Given the description of an element on the screen output the (x, y) to click on. 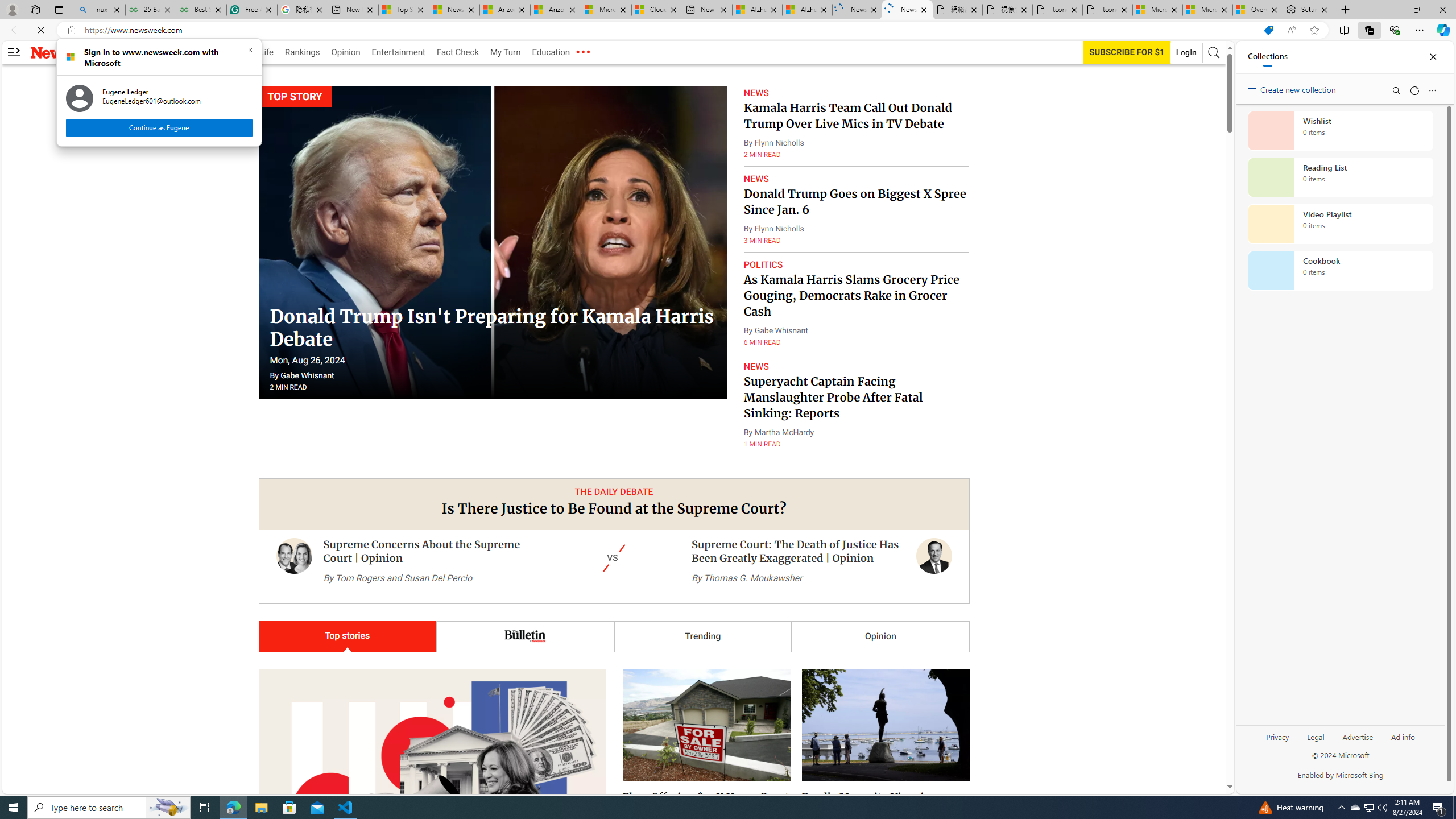
Reading List collection, 0 items (1339, 177)
AutomationID: side-arrow (13, 51)
linux basic - Search (99, 9)
Newsweek - News, Analysis, Politics, Business, Technology (907, 9)
Top stories (346, 636)
Cookbook collection, 0 items (1339, 270)
Kamala Harris Tax Plans: What Could Happen (413, 689)
25 Basic Linux Commands For Beginners - GeeksforGeeks (150, 9)
Trending (702, 636)
